Given the description of an element on the screen output the (x, y) to click on. 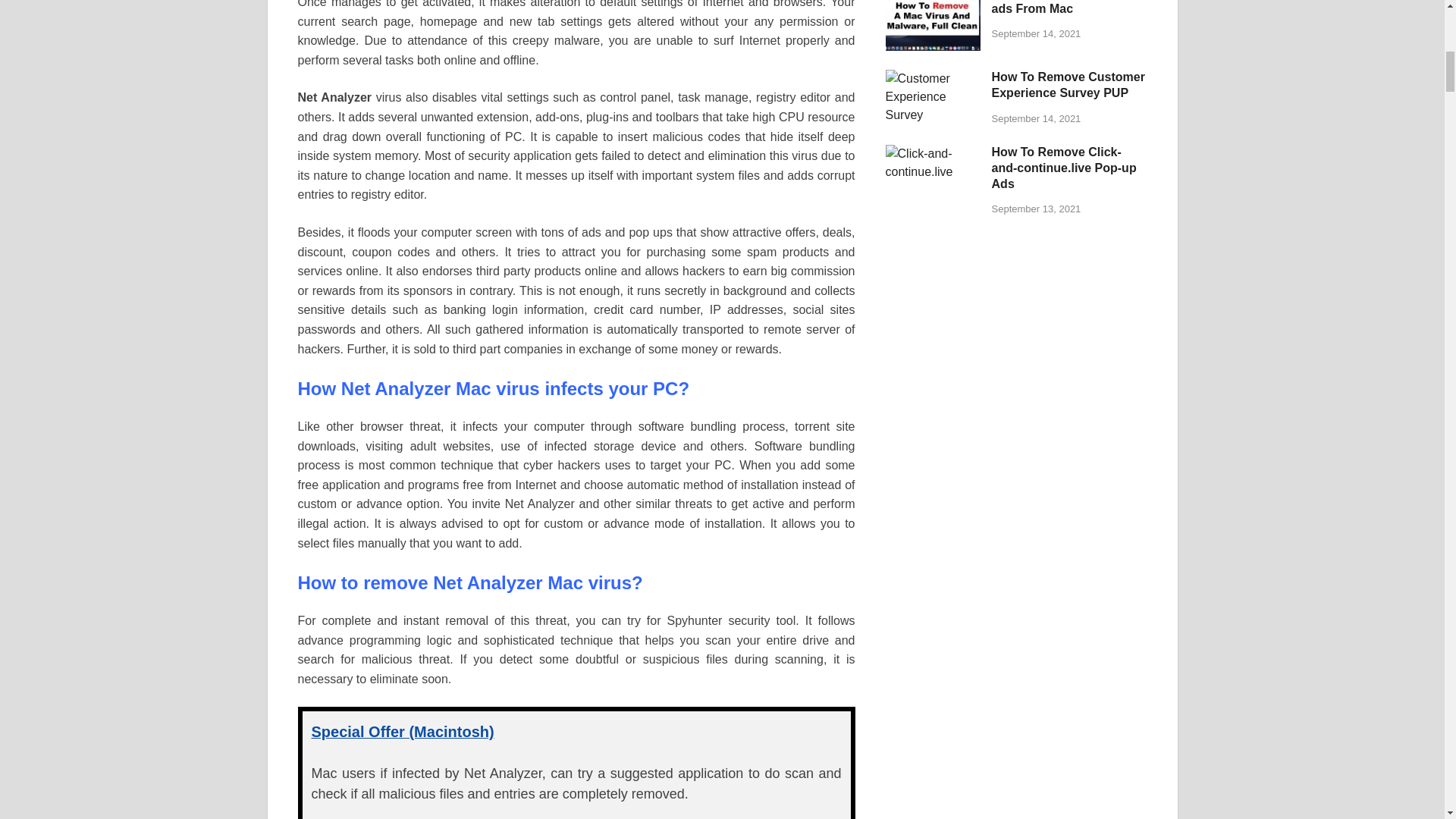
How To Remove Customer Experience Survey PUP (932, 78)
How To Remove Click-and-continue.live Pop-up Ads (932, 153)
